Given the description of an element on the screen output the (x, y) to click on. 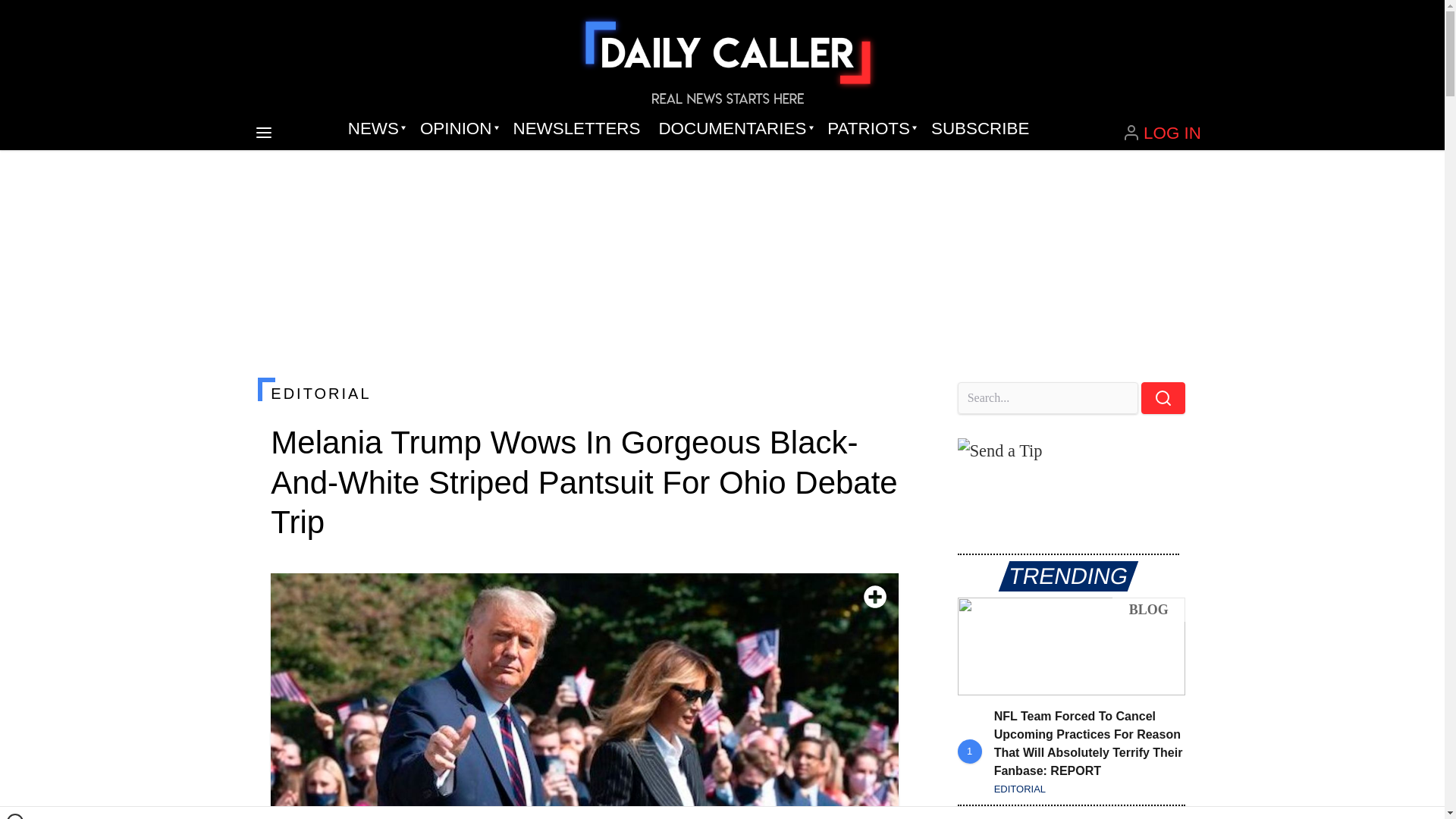
DOCUMENTARIES (733, 128)
Close window (14, 816)
PATRIOTS (869, 128)
NEWS (374, 128)
SUBSCRIBE (979, 128)
EDITORIAL (584, 393)
NEWSLETTERS (576, 128)
OPINION (456, 128)
